Given the description of an element on the screen output the (x, y) to click on. 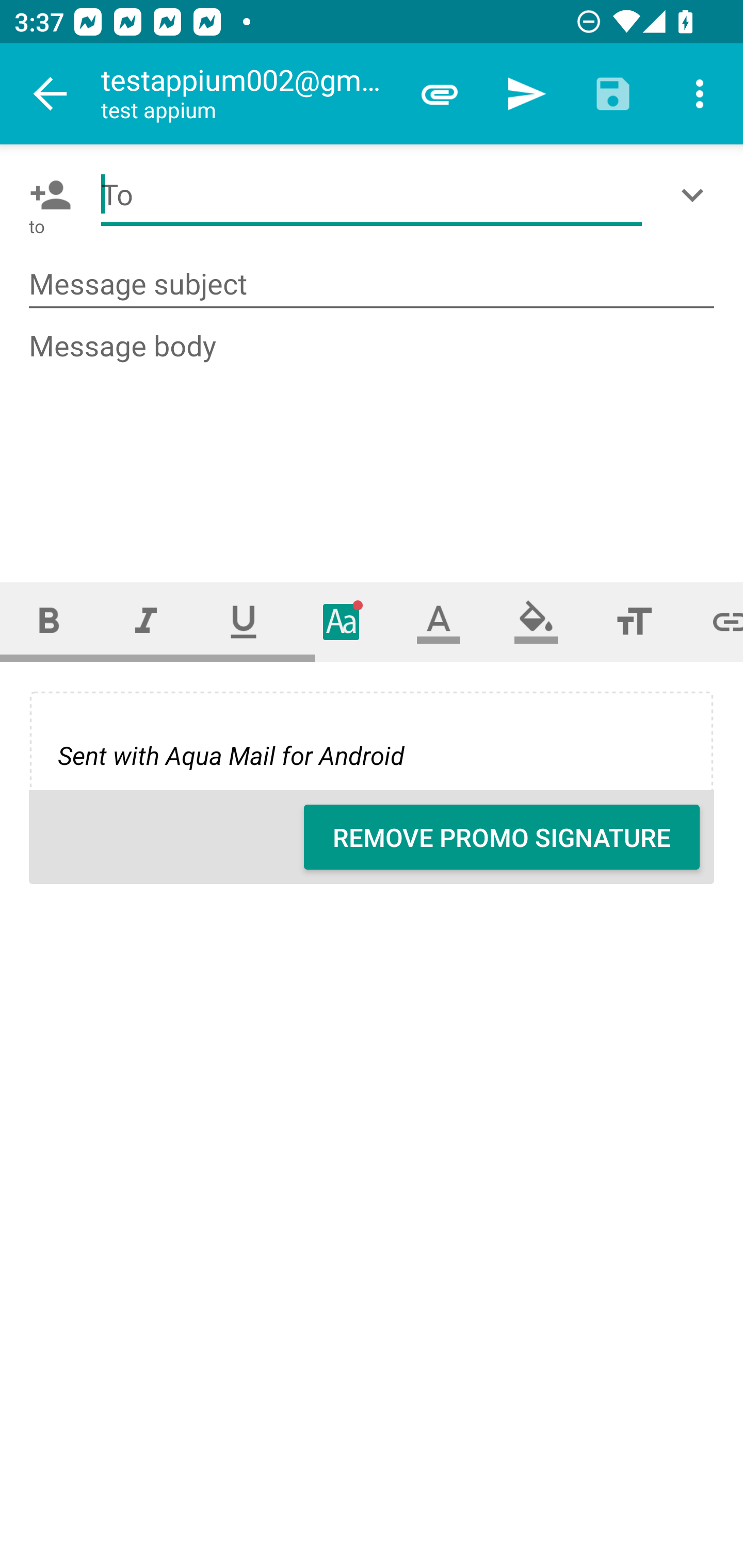
Navigate up (50, 93)
testappium002@gmail.com test appium (248, 93)
Attach (439, 93)
Send (525, 93)
Save (612, 93)
More options (699, 93)
Pick contact: To (46, 195)
Show/Add CC/BCC (696, 195)
To (371, 195)
Message subject (371, 284)
Message body (372, 438)
Bold (48, 621)
Italic (145, 621)
Underline (243, 621)
Typeface (font) (341, 621)
Text color (438, 621)
Fill color (536, 621)
Font size (633, 621)
REMOVE PROMO SIGNATURE (501, 837)
